Given the description of an element on the screen output the (x, y) to click on. 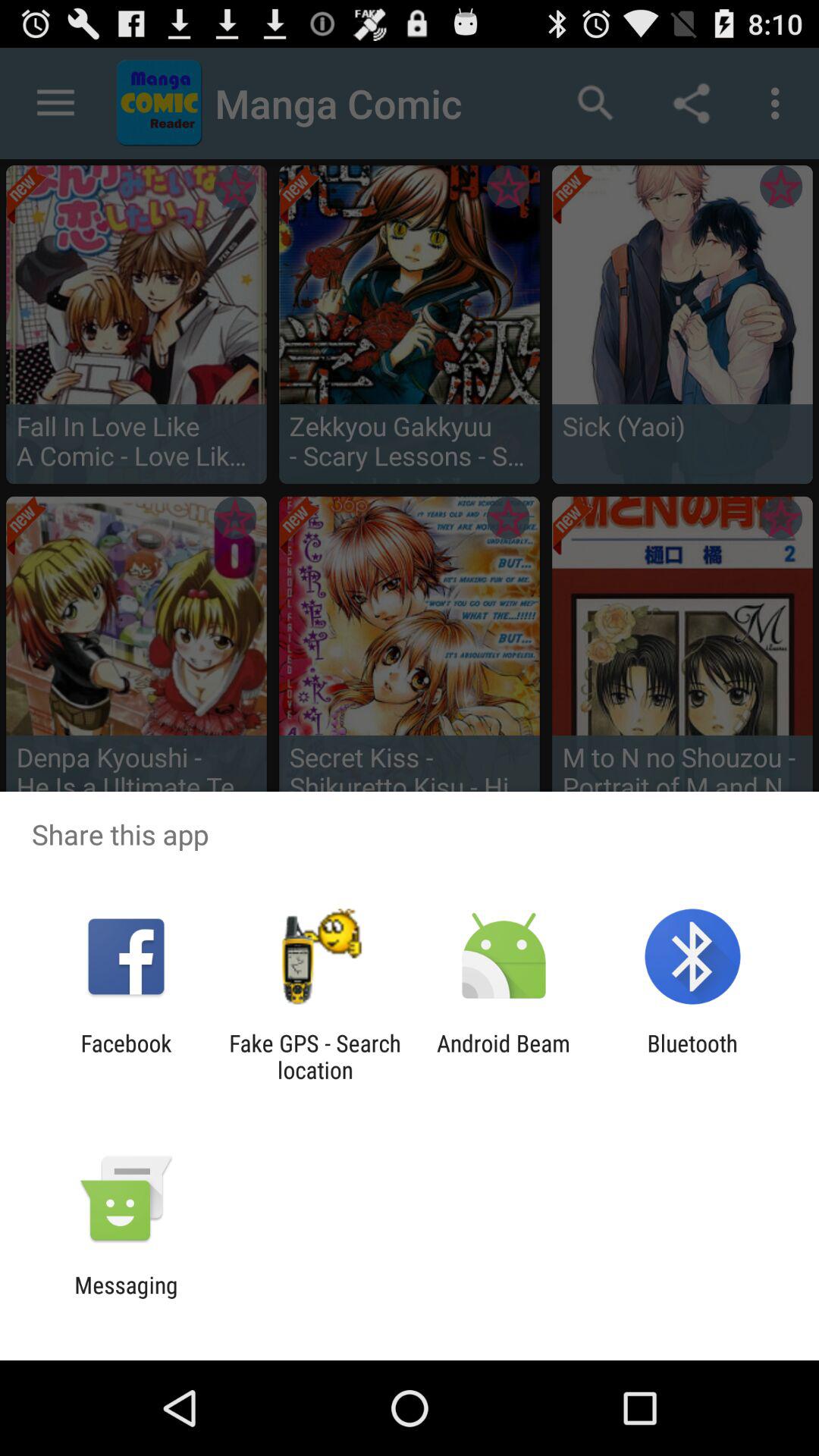
select the icon next to facebook item (314, 1056)
